Given the description of an element on the screen output the (x, y) to click on. 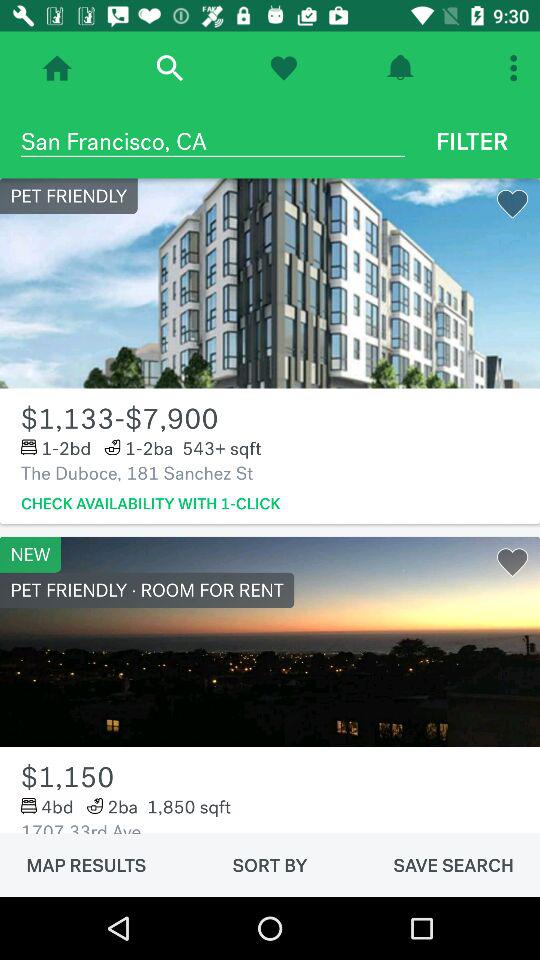
open item to the right of map results icon (269, 865)
